Given the description of an element on the screen output the (x, y) to click on. 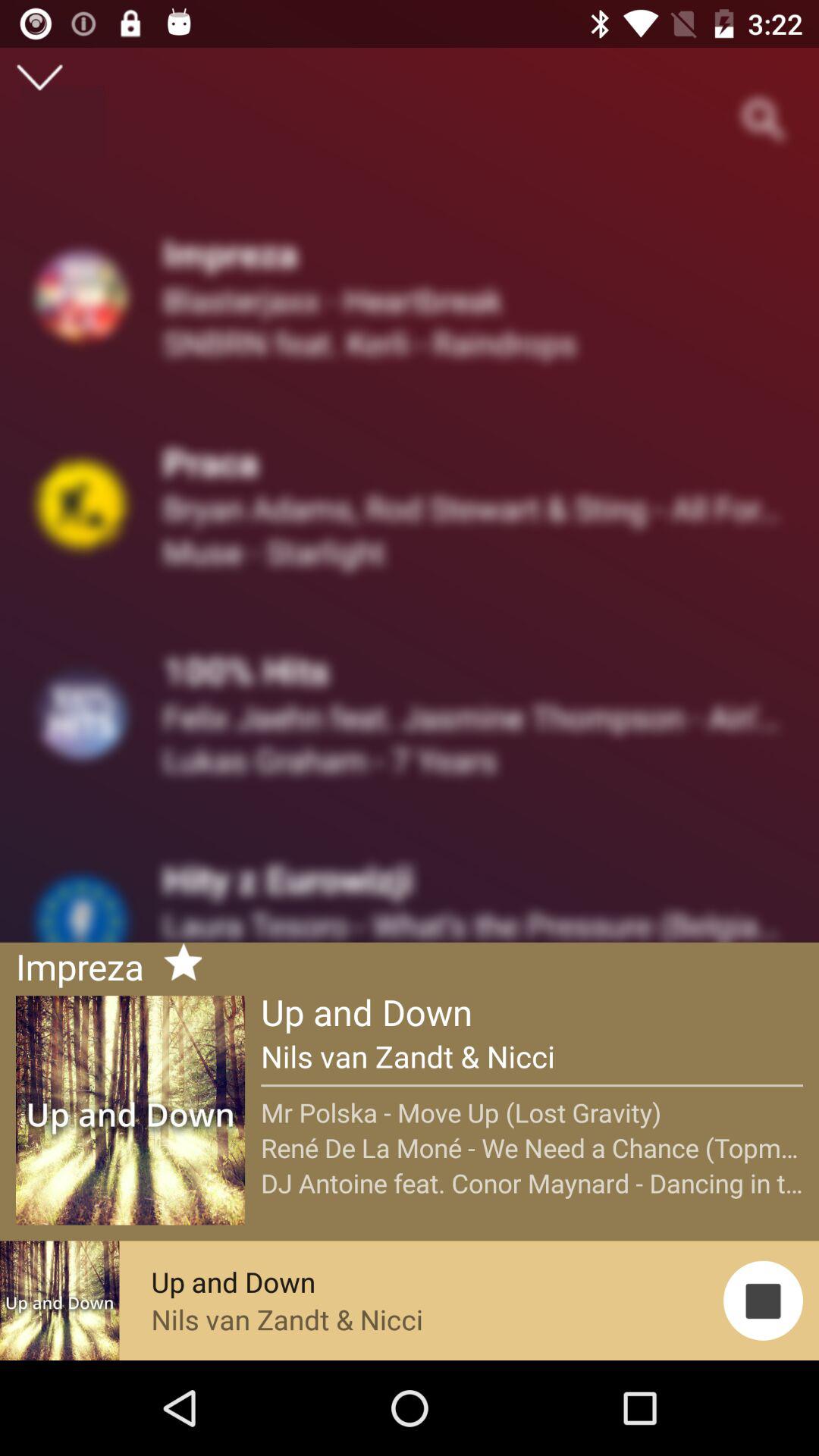
favorite song (176, 964)
